Given the description of an element on the screen output the (x, y) to click on. 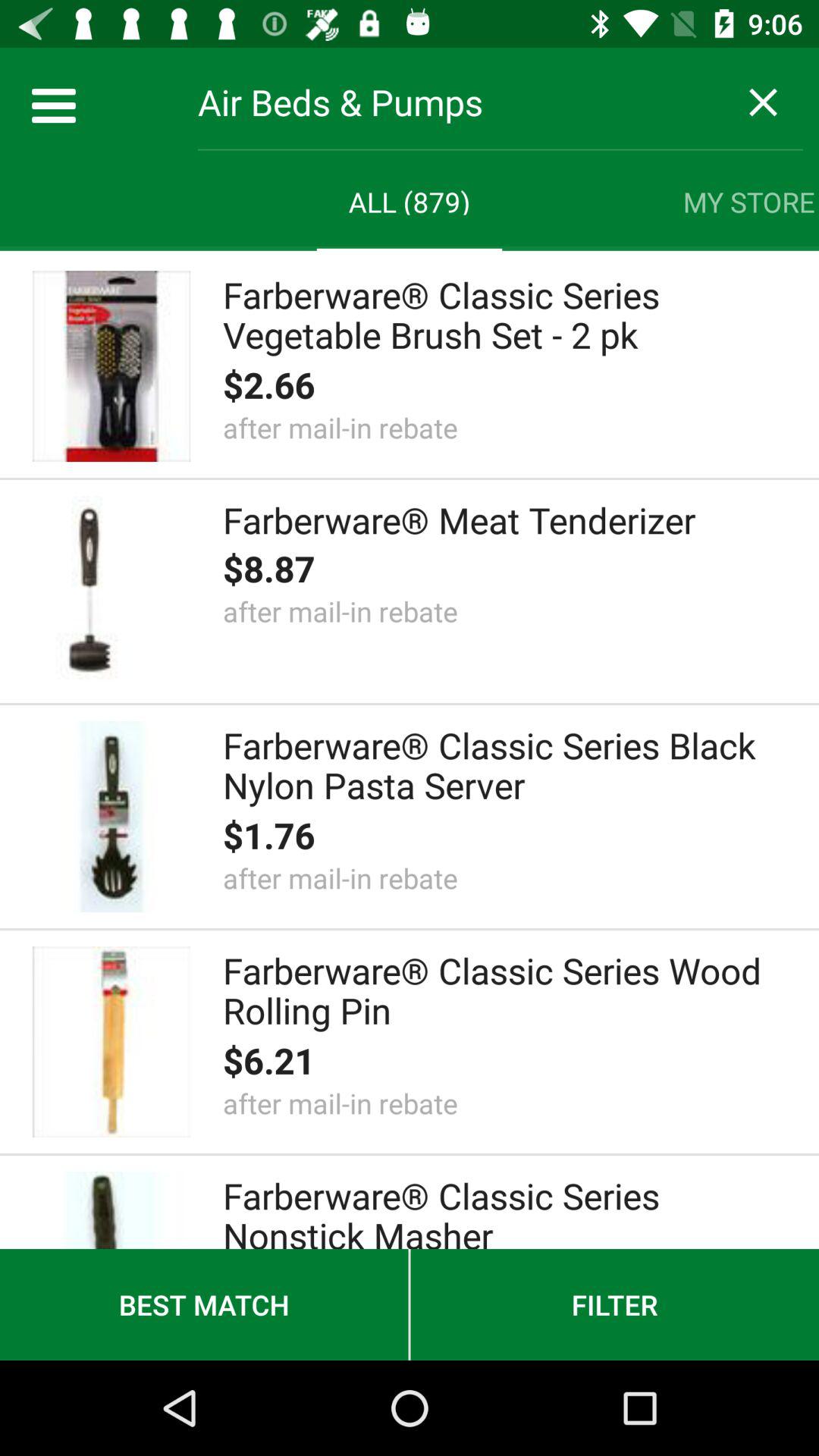
select the second image in the page (111, 591)
select the first image (111, 365)
